Given the description of an element on the screen output the (x, y) to click on. 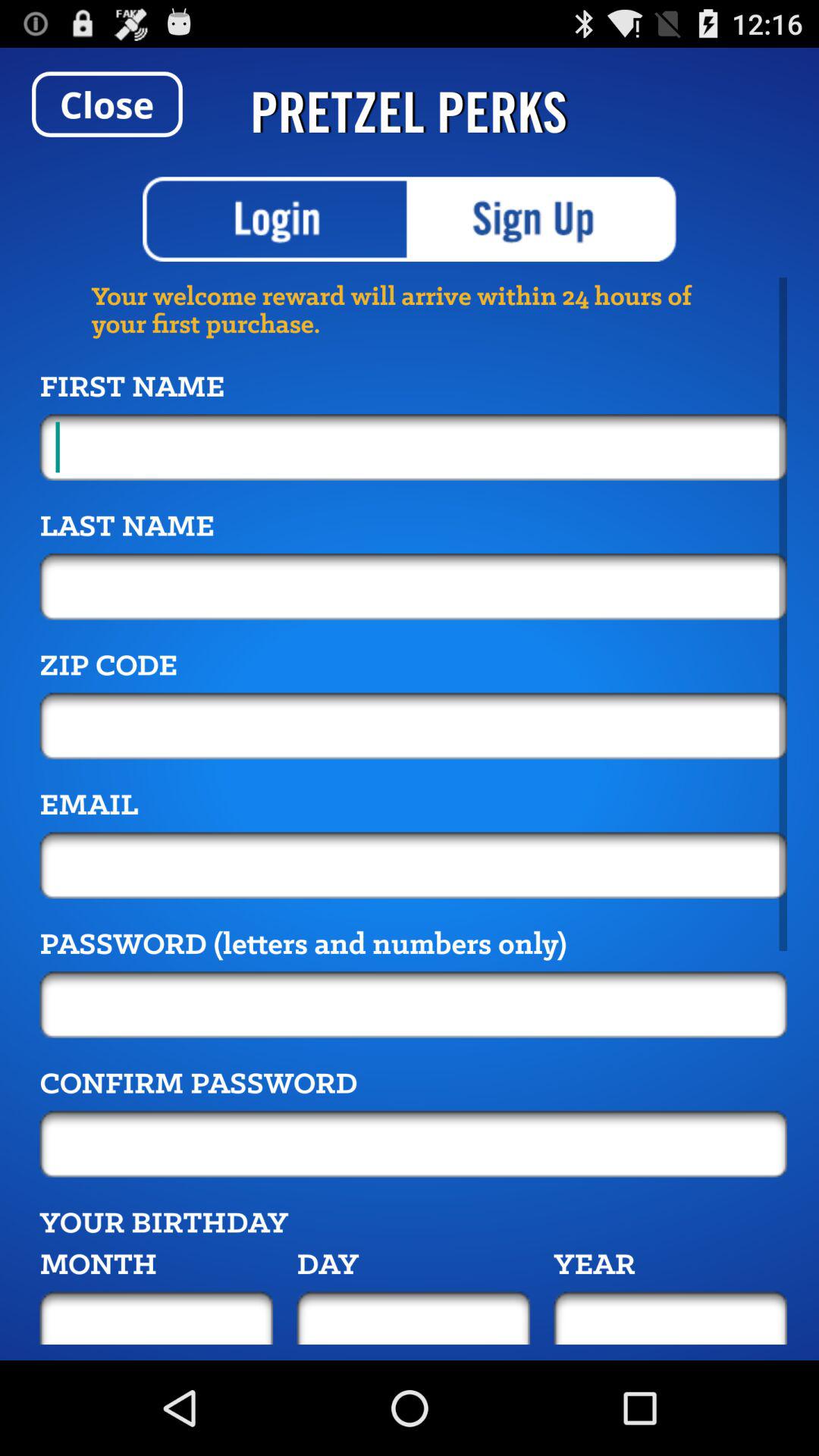
log into the page (276, 218)
